Given the description of an element on the screen output the (x, y) to click on. 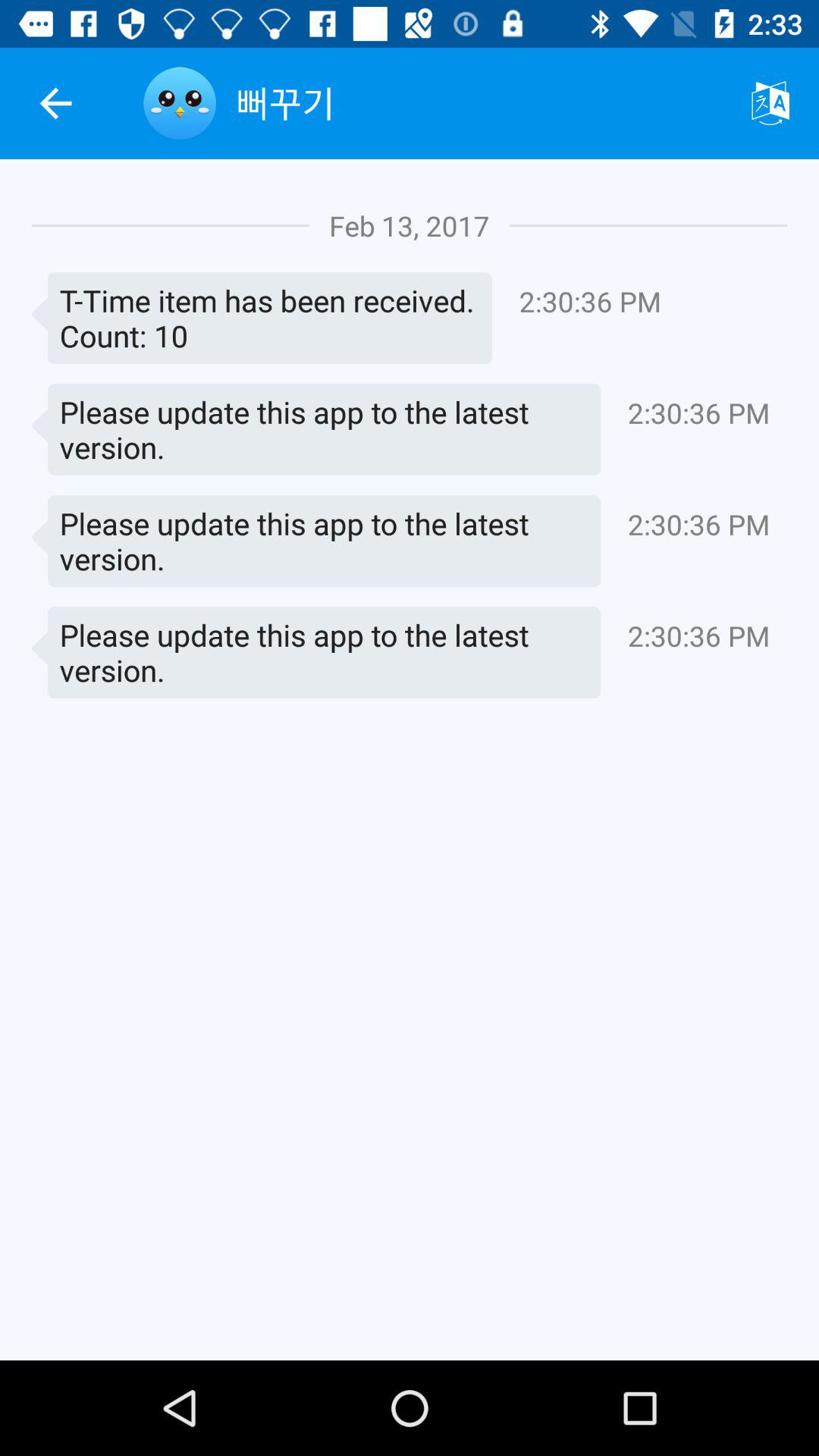
press the icon below feb 13, 2017 (261, 318)
